Given the description of an element on the screen output the (x, y) to click on. 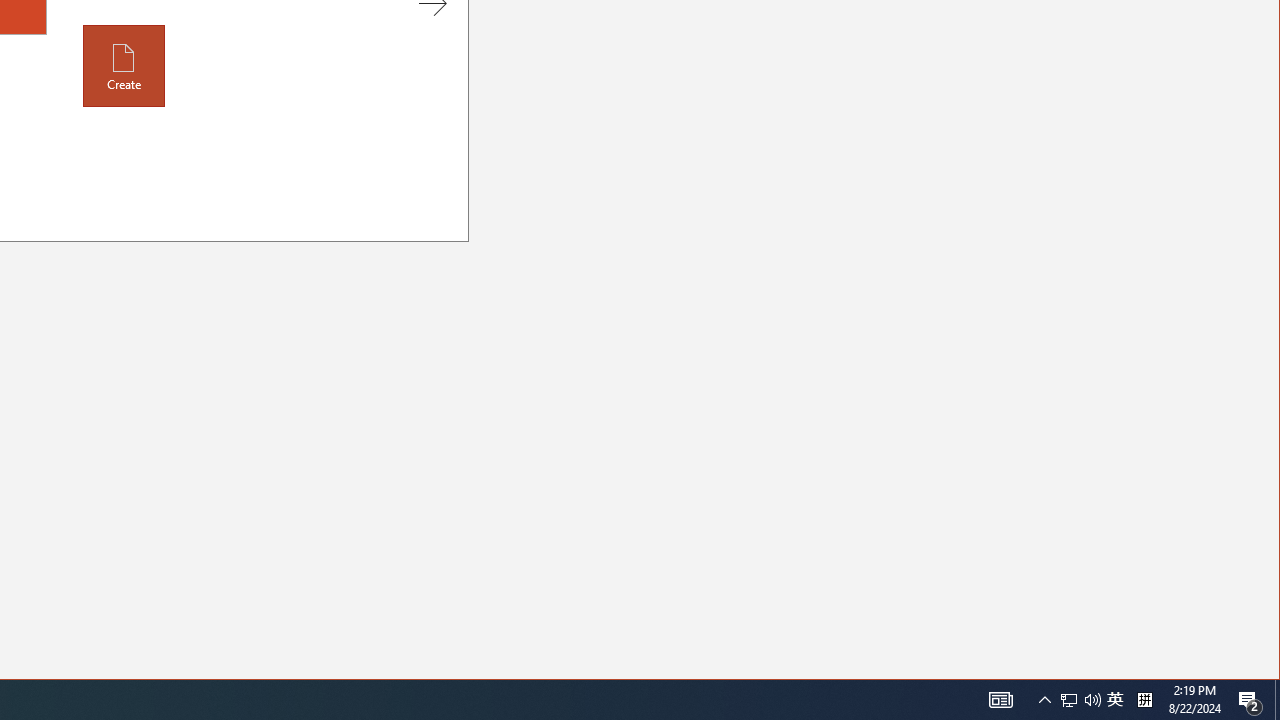
Q2790: 100% (1115, 699)
Tray Input Indicator - Chinese (Simplified, China) (1092, 699)
Notification Chevron (1144, 699)
Show desktop (1044, 699)
AutomationID: 4105 (1277, 699)
Create (1000, 699)
User Promoted Notification Area (124, 66)
Action Center, 2 new notifications (1080, 699)
